Given the description of an element on the screen output the (x, y) to click on. 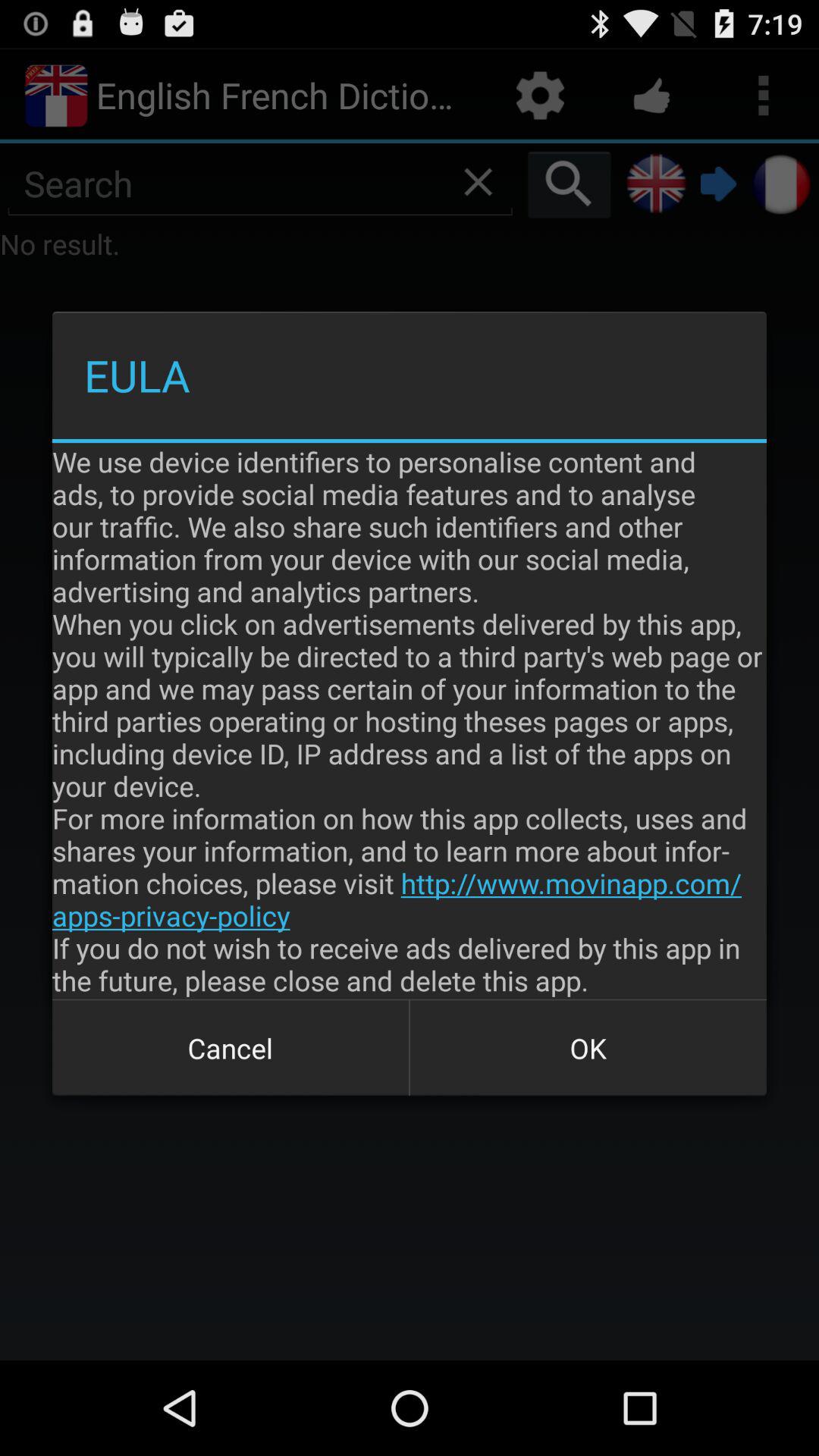
flip to the cancel item (230, 1047)
